Given the description of an element on the screen output the (x, y) to click on. 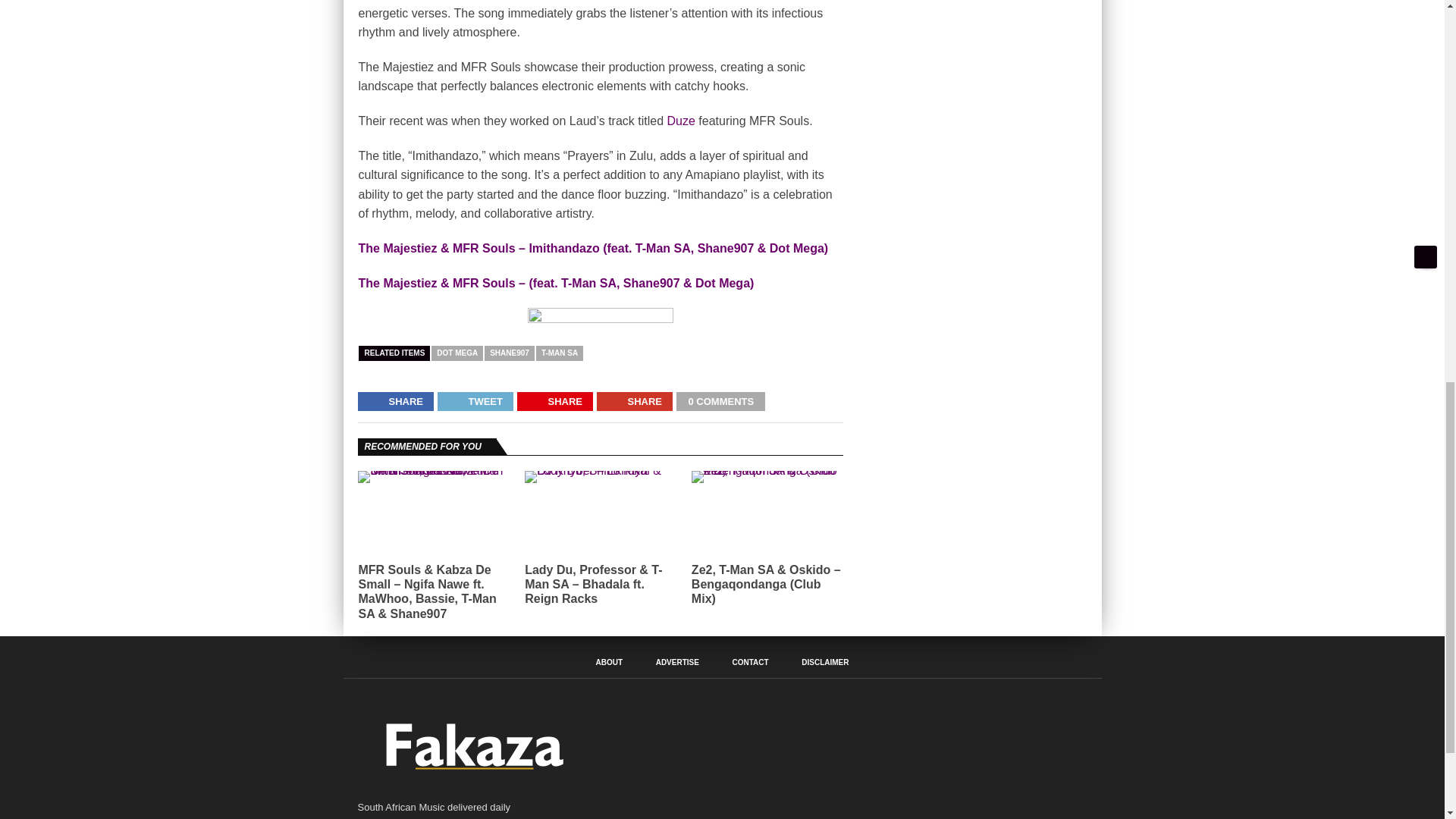
SHANE907 (509, 353)
Duze (680, 120)
T-MAN SA (559, 353)
DOT MEGA (456, 353)
